Given the description of an element on the screen output the (x, y) to click on. 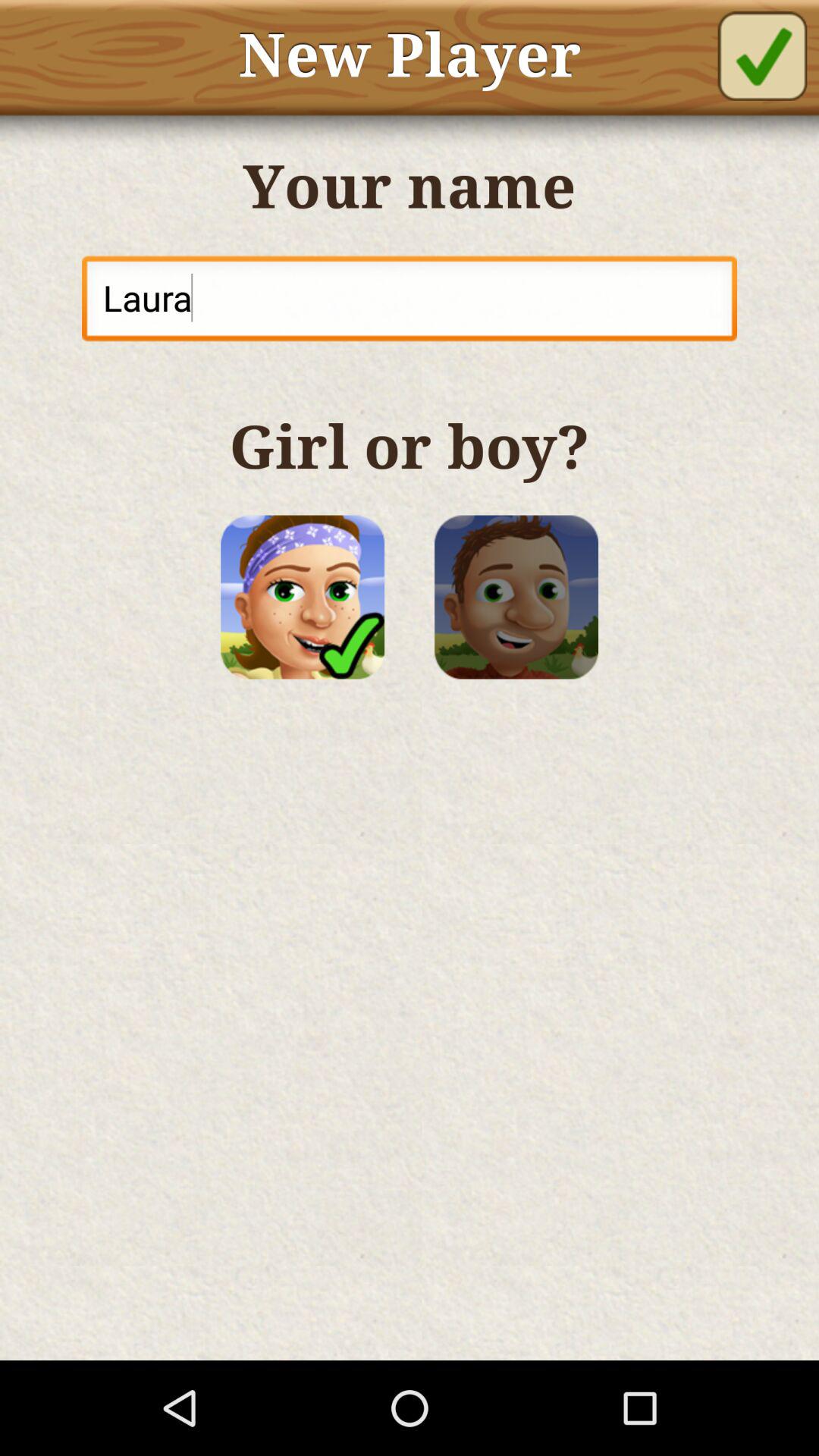
add new player (762, 55)
